Given the description of an element on the screen output the (x, y) to click on. 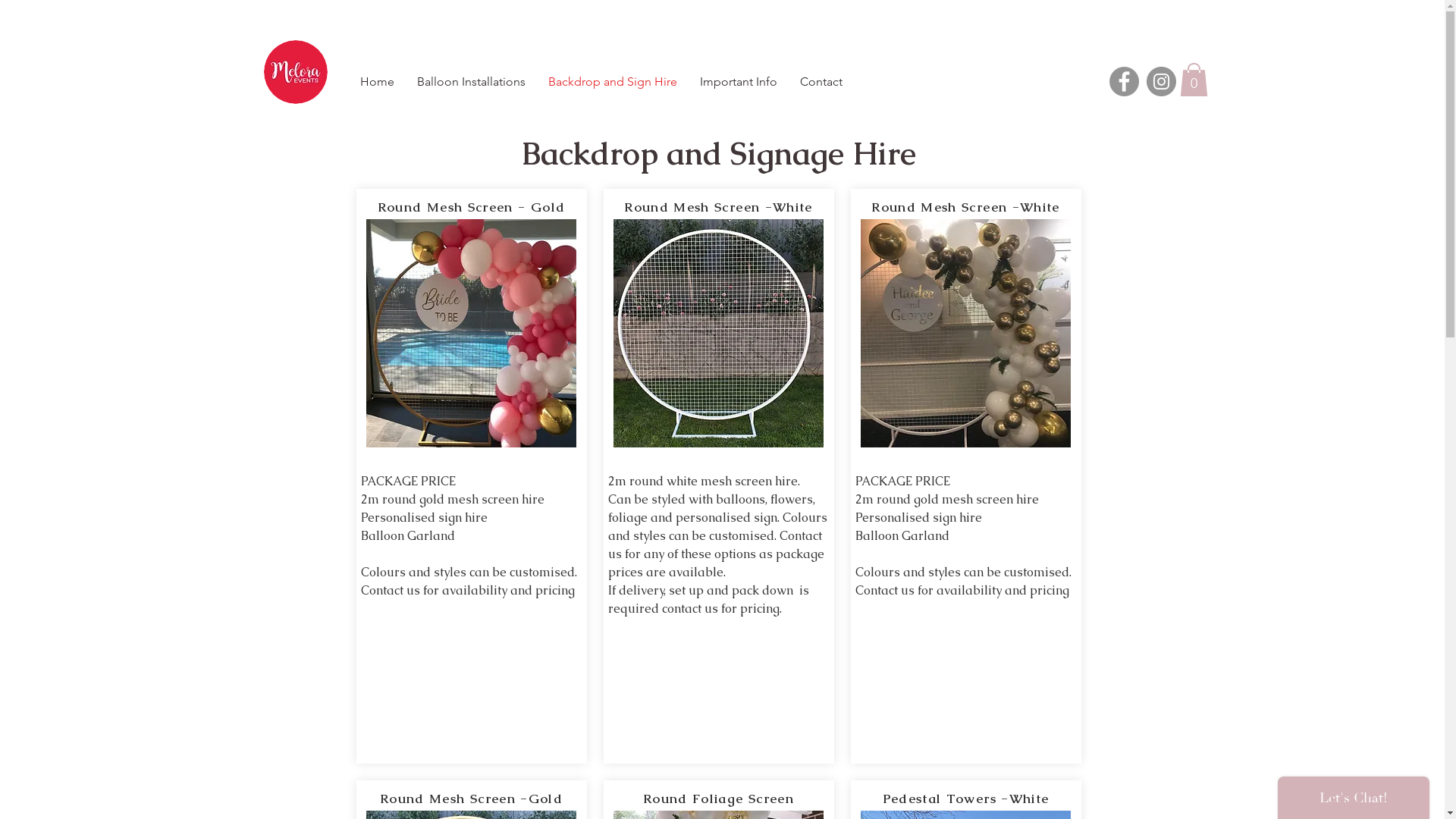
Contact Element type: text (820, 81)
Backdrop and Sign Hire Element type: text (612, 81)
Home Element type: text (376, 81)
0 Element type: text (1193, 79)
Important Info Element type: text (738, 81)
Balloon Installations Element type: text (470, 81)
